Given the description of an element on the screen output the (x, y) to click on. 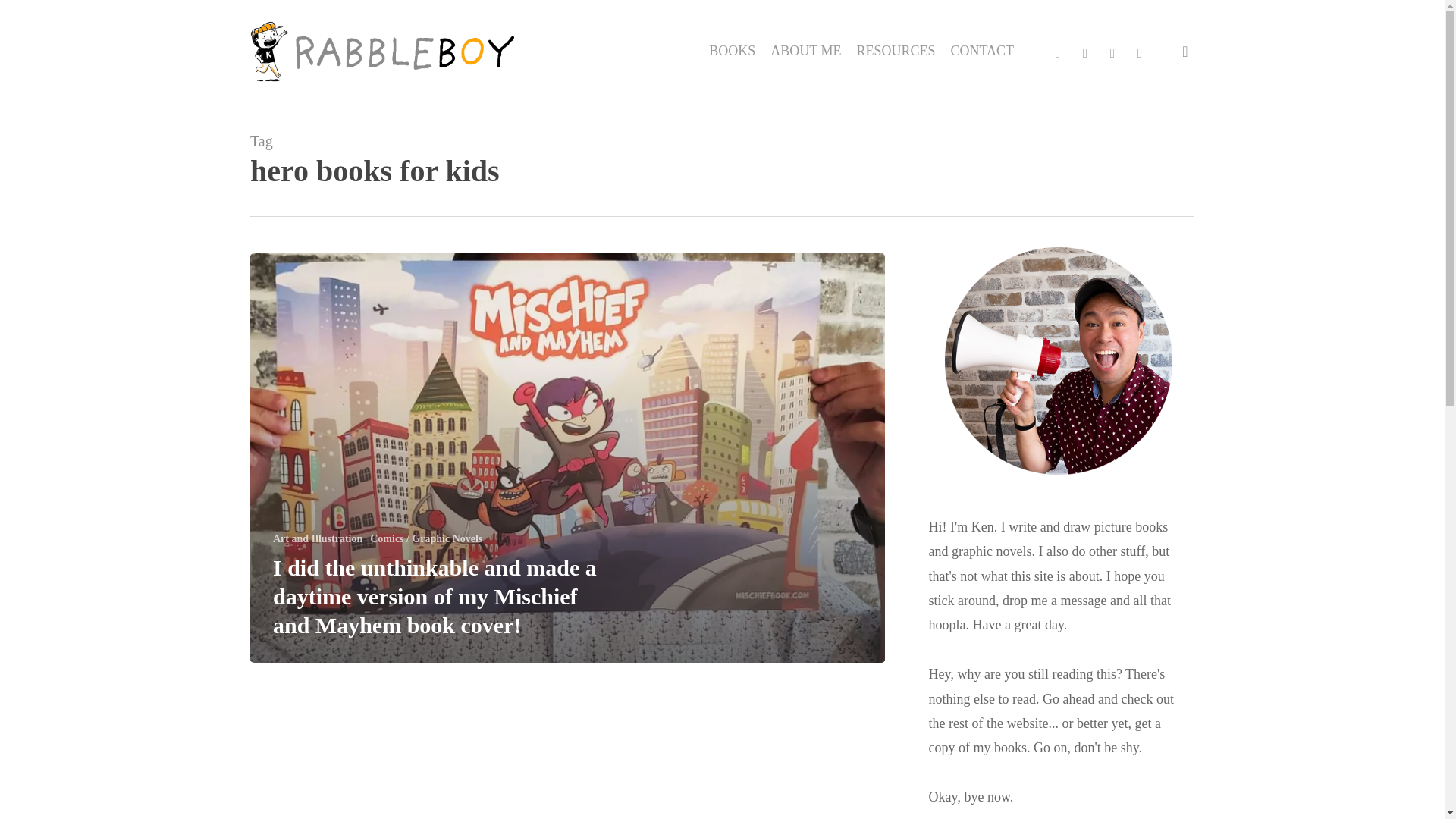
youtube (1112, 51)
RESOURCES (895, 50)
twitter (1057, 51)
Art and Illustration (317, 538)
instagram (1139, 51)
BOOKS (732, 50)
facebook (1085, 51)
search (1184, 51)
ABOUT ME (805, 50)
CONTACT (981, 50)
